Given the description of an element on the screen output the (x, y) to click on. 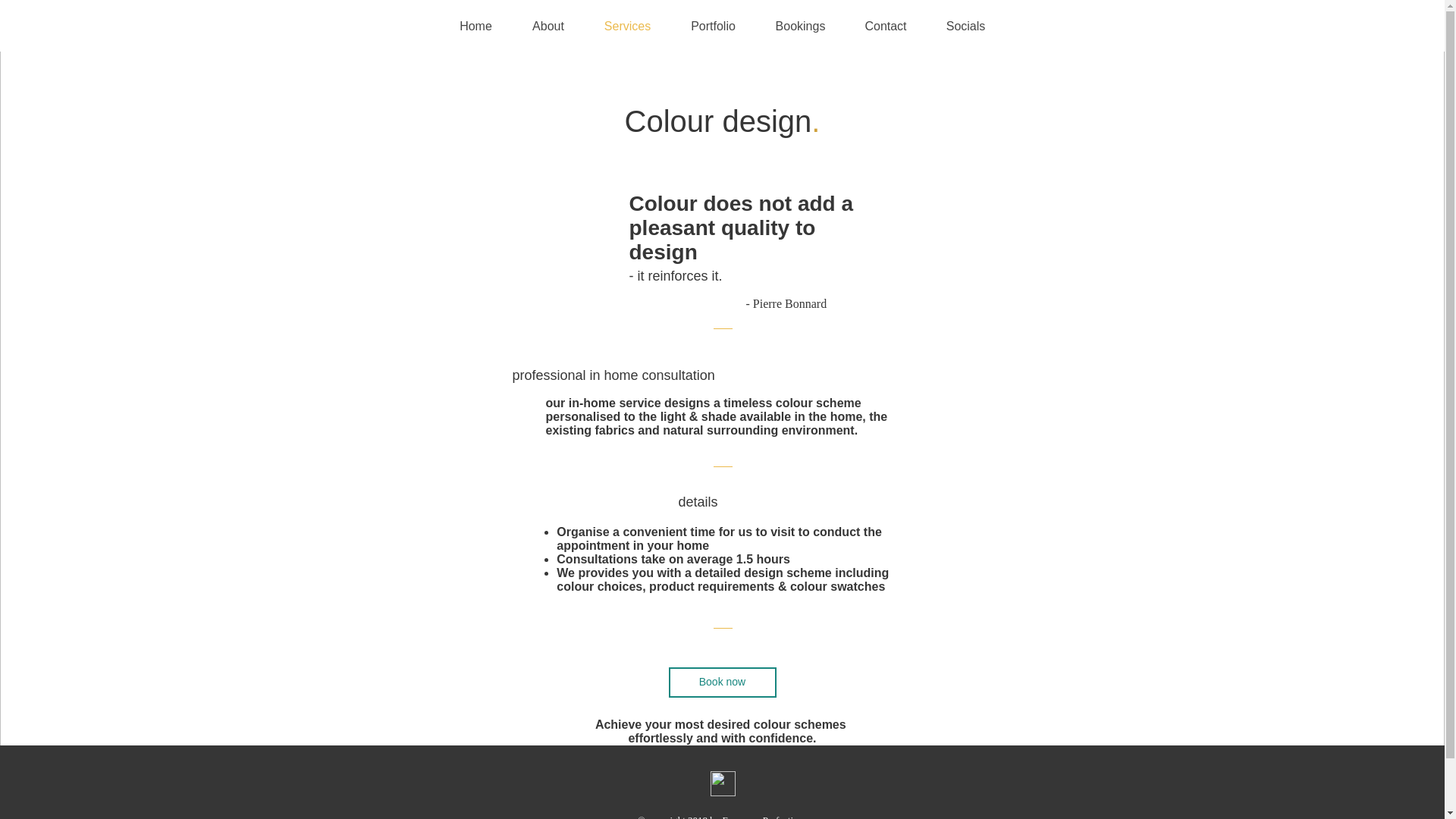
Contact (885, 26)
Portfolio (712, 26)
Home (475, 26)
About (548, 26)
Services (626, 26)
Bookings (799, 26)
Book now (722, 682)
Socials (966, 26)
